Given the description of an element on the screen output the (x, y) to click on. 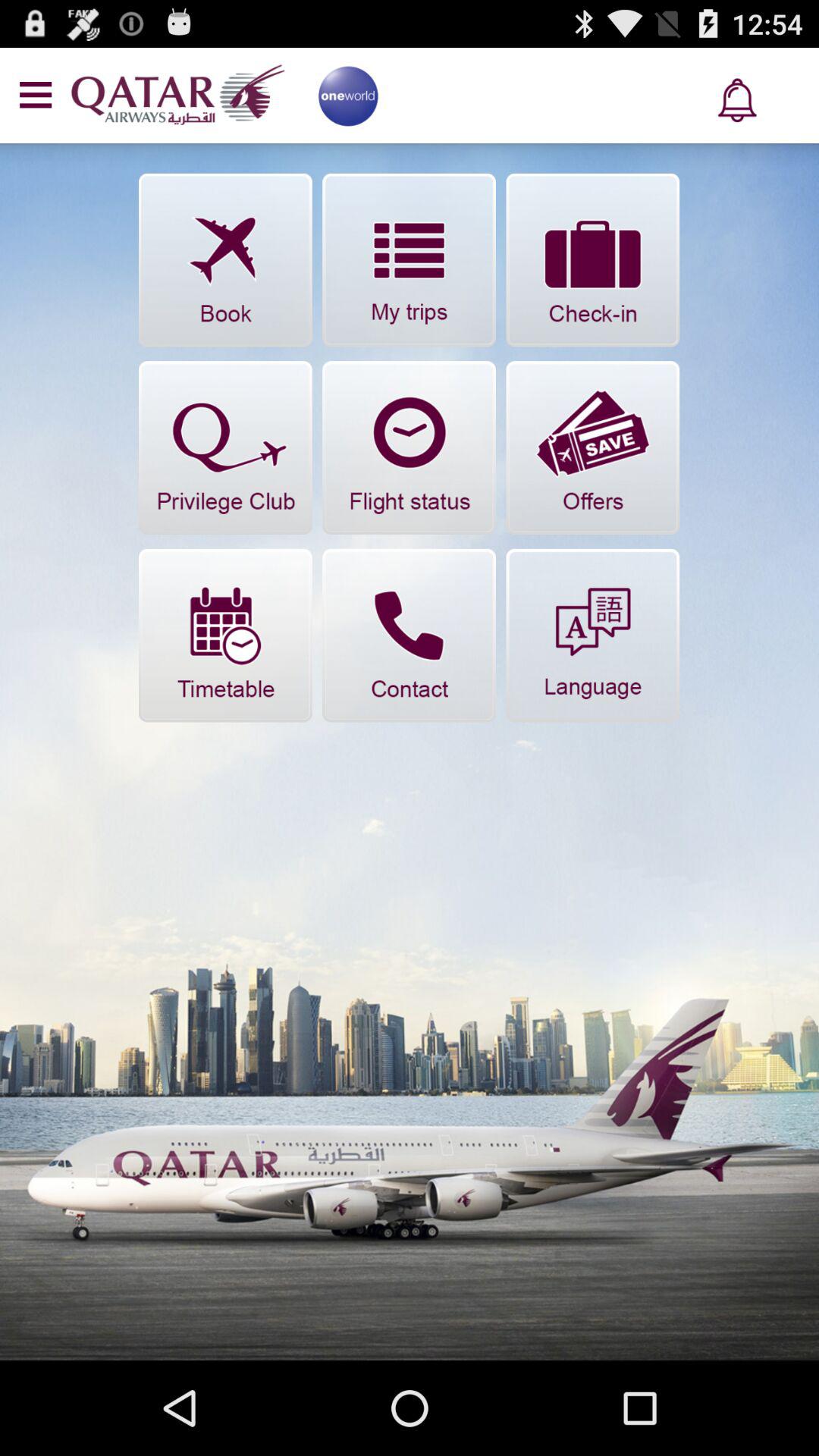
flight status (408, 447)
